Given the description of an element on the screen output the (x, y) to click on. 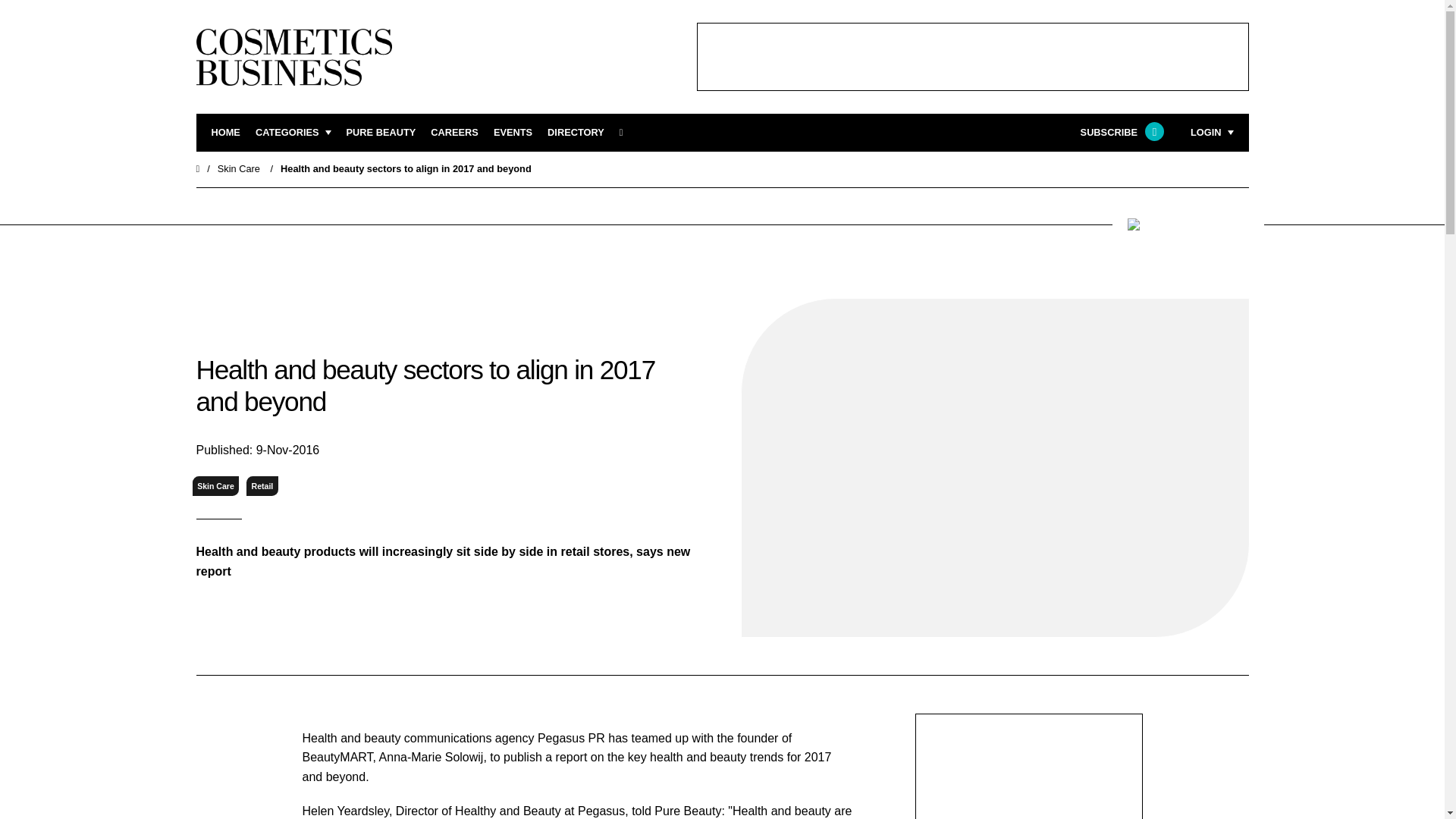
Skin Care (238, 168)
DIRECTORY (575, 133)
LOGIN (1212, 133)
Retail (262, 485)
SEARCH (626, 133)
SUBSCRIBE (1120, 133)
Directory (575, 133)
EVENTS (512, 133)
Skin Care (216, 485)
CAREERS (454, 133)
